Given the description of an element on the screen output the (x, y) to click on. 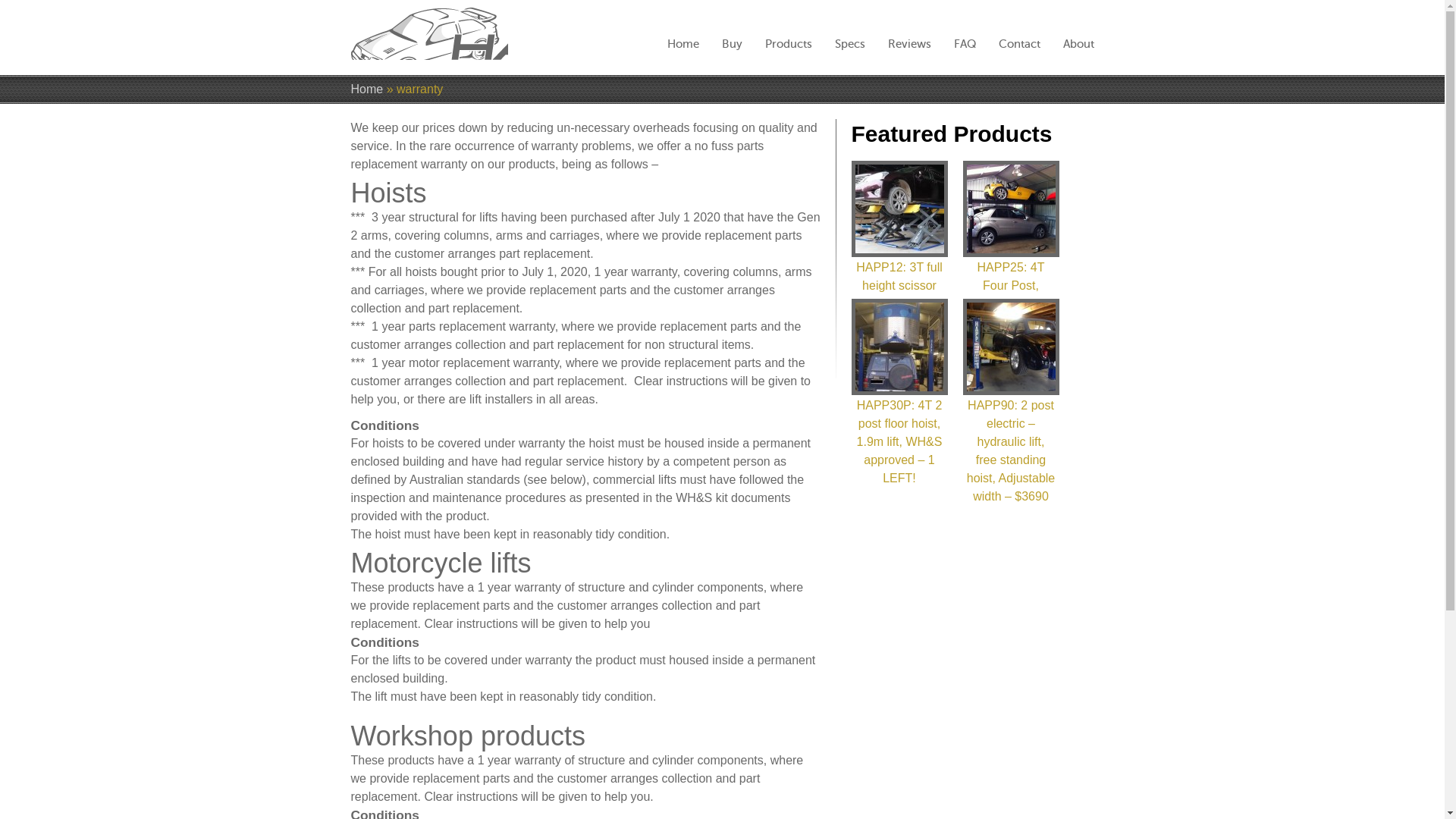
Contact Element type: text (1018, 43)
Home Element type: text (683, 43)
Buy Element type: text (731, 43)
Specs Element type: text (849, 43)
FAQ Element type: text (964, 43)
Reviews Element type: text (908, 43)
Products Element type: text (787, 43)
About Element type: text (1078, 43)
Home Element type: text (366, 88)
